Given the description of an element on the screen output the (x, y) to click on. 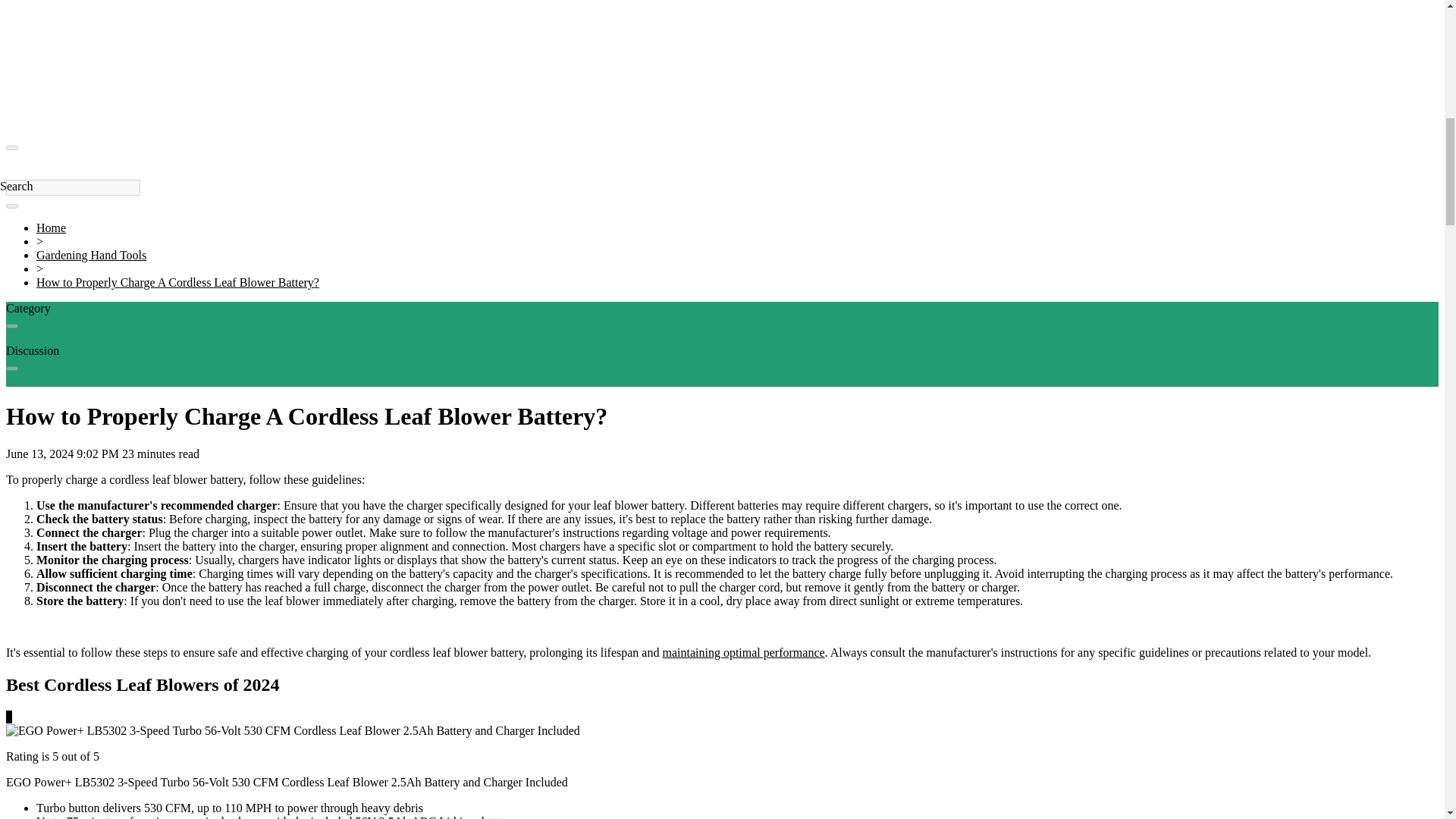
Gardening Hand Tools (91, 254)
How to Properly Charge A Cordless Leaf Blower Battery? (177, 282)
maintaining optimal performance (743, 652)
Home (50, 227)
